Given the description of an element on the screen output the (x, y) to click on. 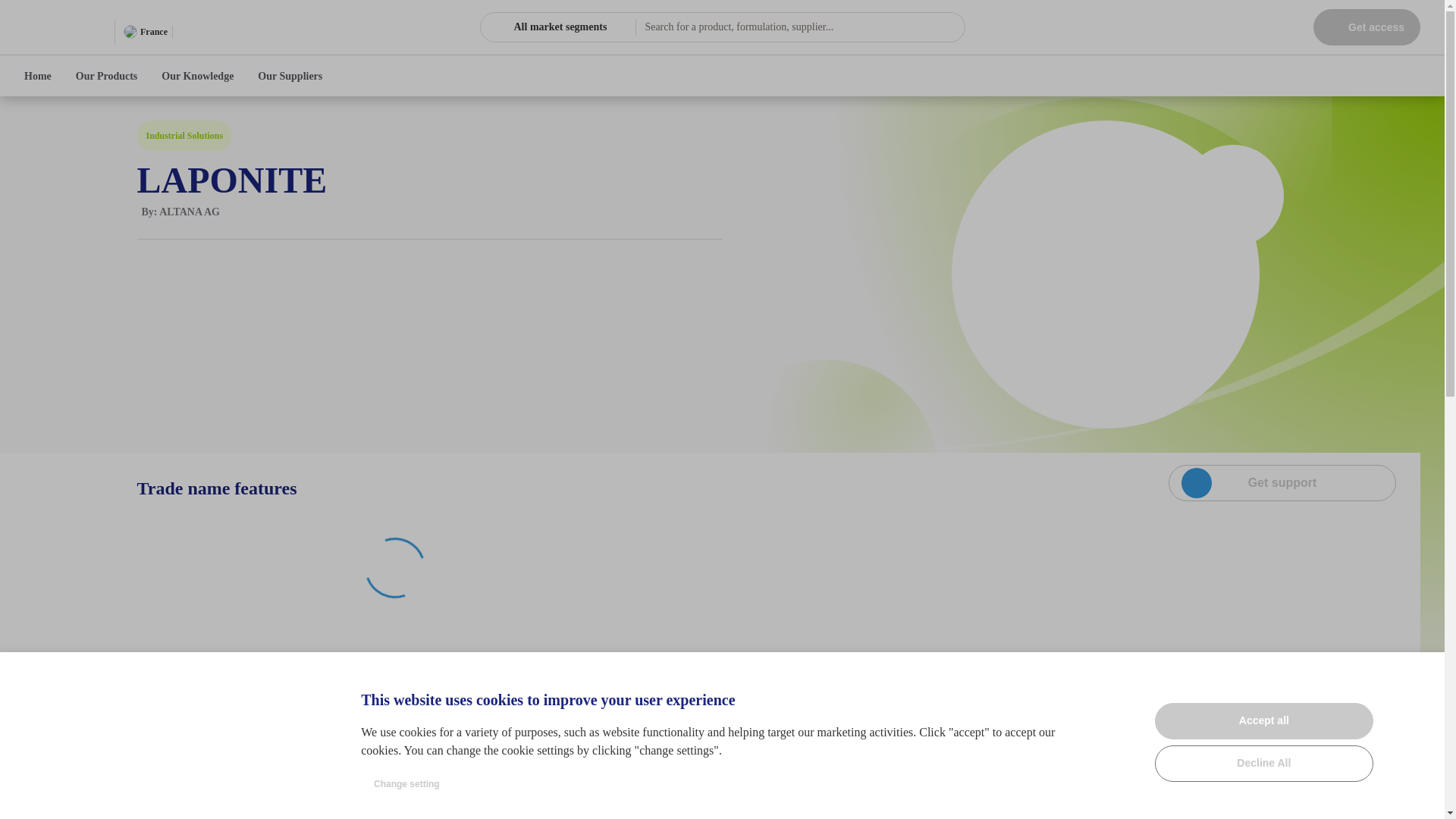
Our Knowledge (197, 76)
Settings (1421, 675)
France (145, 31)
Our Products (106, 76)
Get support (1282, 483)
Home (37, 76)
Decline All (1263, 763)
Settings (1421, 675)
Our Suppliers (290, 76)
all (494, 27)
